Given the description of an element on the screen output the (x, y) to click on. 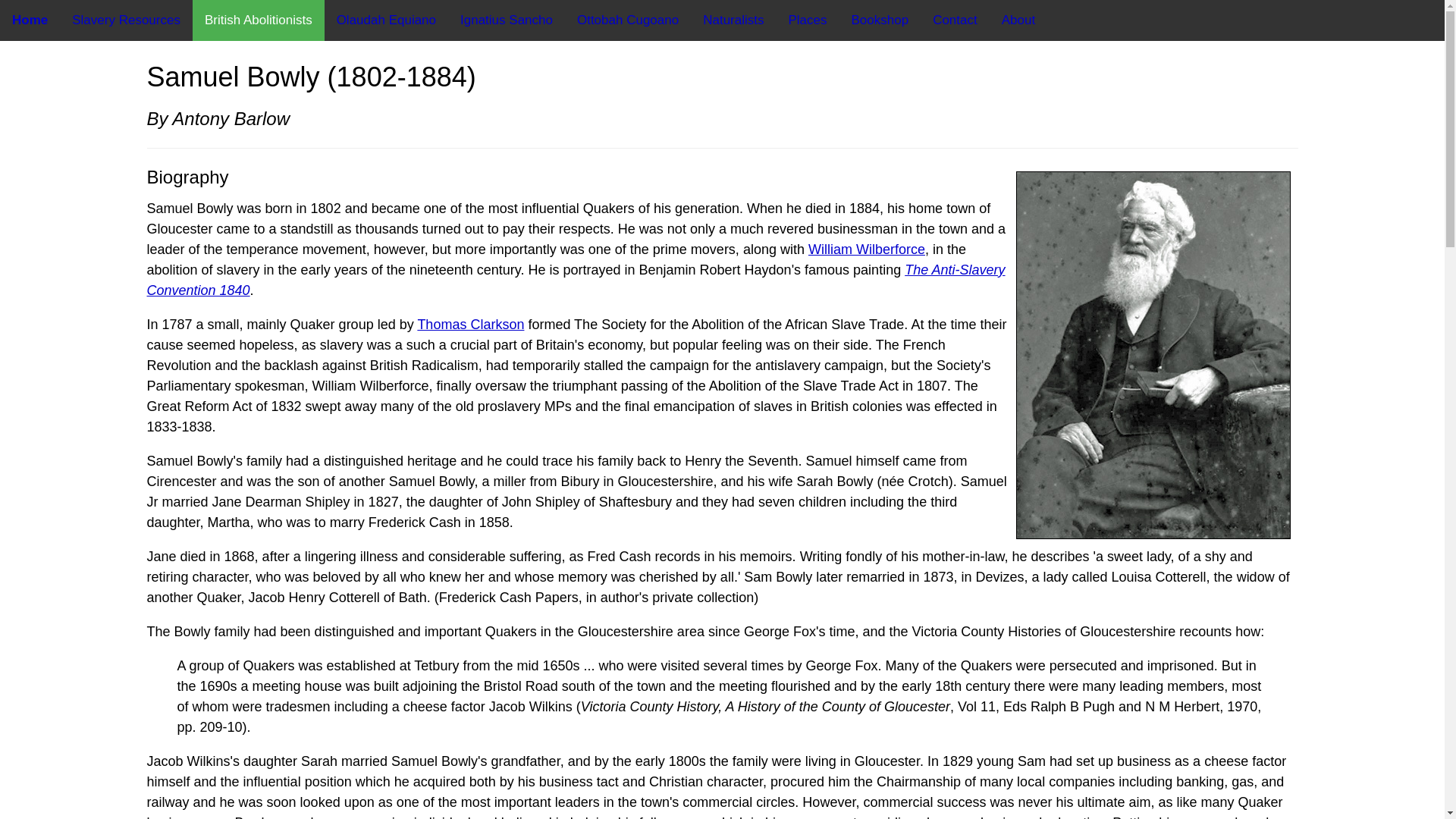
Contact (955, 20)
Olaudah Equiano (386, 20)
British Abolitionists (258, 20)
About (1018, 20)
Home (29, 20)
The Anti-Slavery Convention 1840 (576, 280)
Slavery Resources (125, 20)
Places (807, 20)
Bookshop (880, 20)
Thomas Clarkson (470, 324)
Naturalists (733, 20)
William Wilberforce (866, 248)
Ignatius Sancho (506, 20)
Ottobah Cugoano (627, 20)
